Given the description of an element on the screen output the (x, y) to click on. 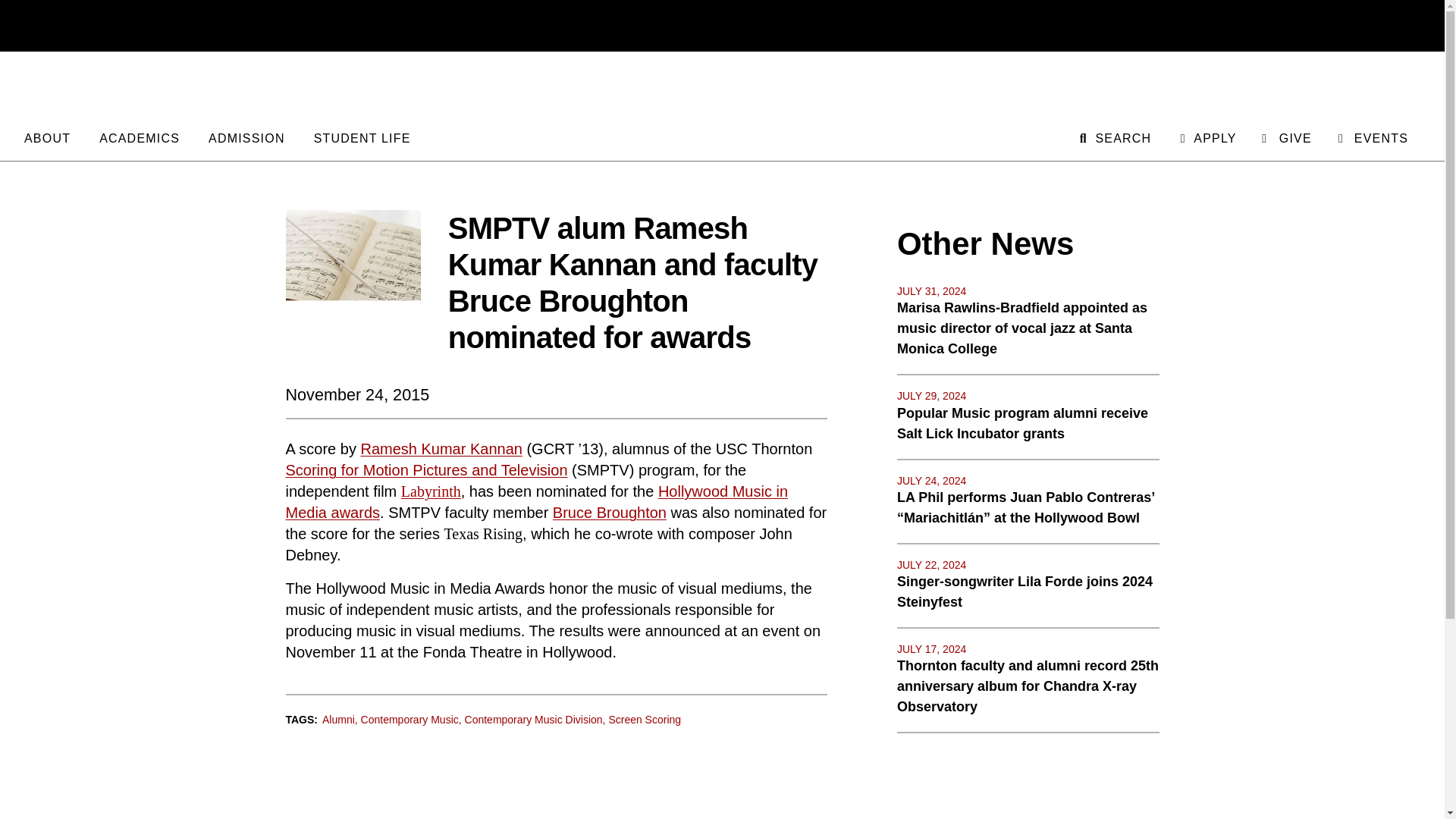
APPLY (1205, 135)
University of Southern California (1348, 25)
ADMISSION (246, 135)
ABOUT (46, 135)
EVENTS (1371, 135)
GIVE (1285, 135)
USC Thornton School of Music (722, 87)
STUDENT LIFE (362, 135)
SEARCH (1114, 135)
ACADEMICS (139, 135)
